Given the description of an element on the screen output the (x, y) to click on. 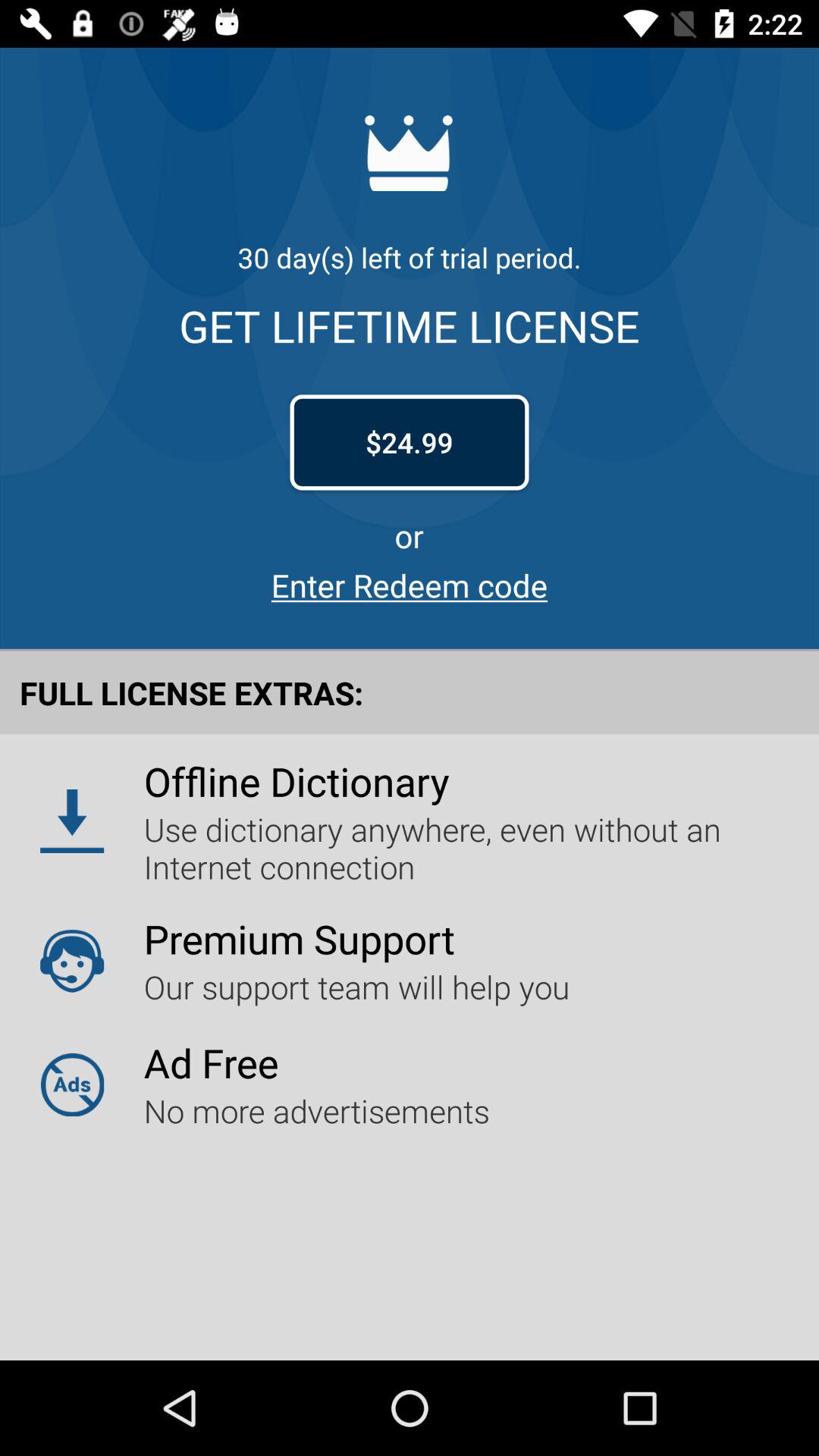
press icon above or item (409, 442)
